Given the description of an element on the screen output the (x, y) to click on. 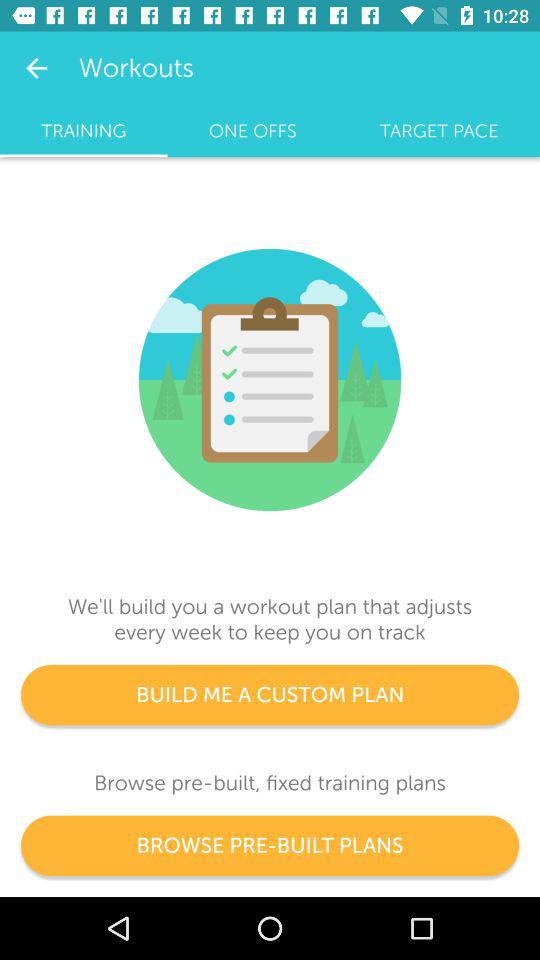
select the one offs icon (252, 131)
